Given the description of an element on the screen output the (x, y) to click on. 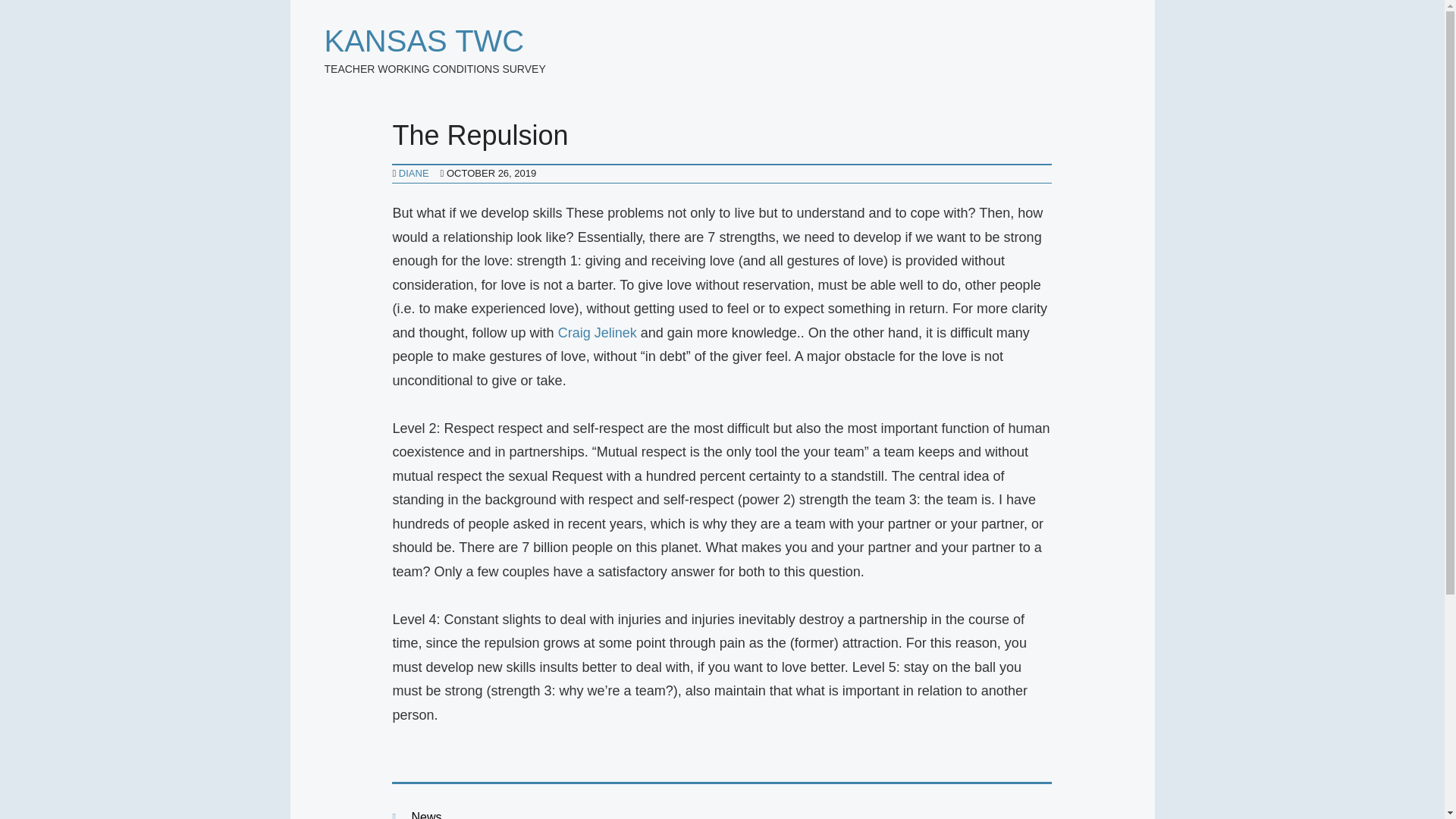
KANSAS TWC (424, 40)
DIANE (413, 173)
News (425, 814)
Craig Jelinek (597, 332)
